Given the description of an element on the screen output the (x, y) to click on. 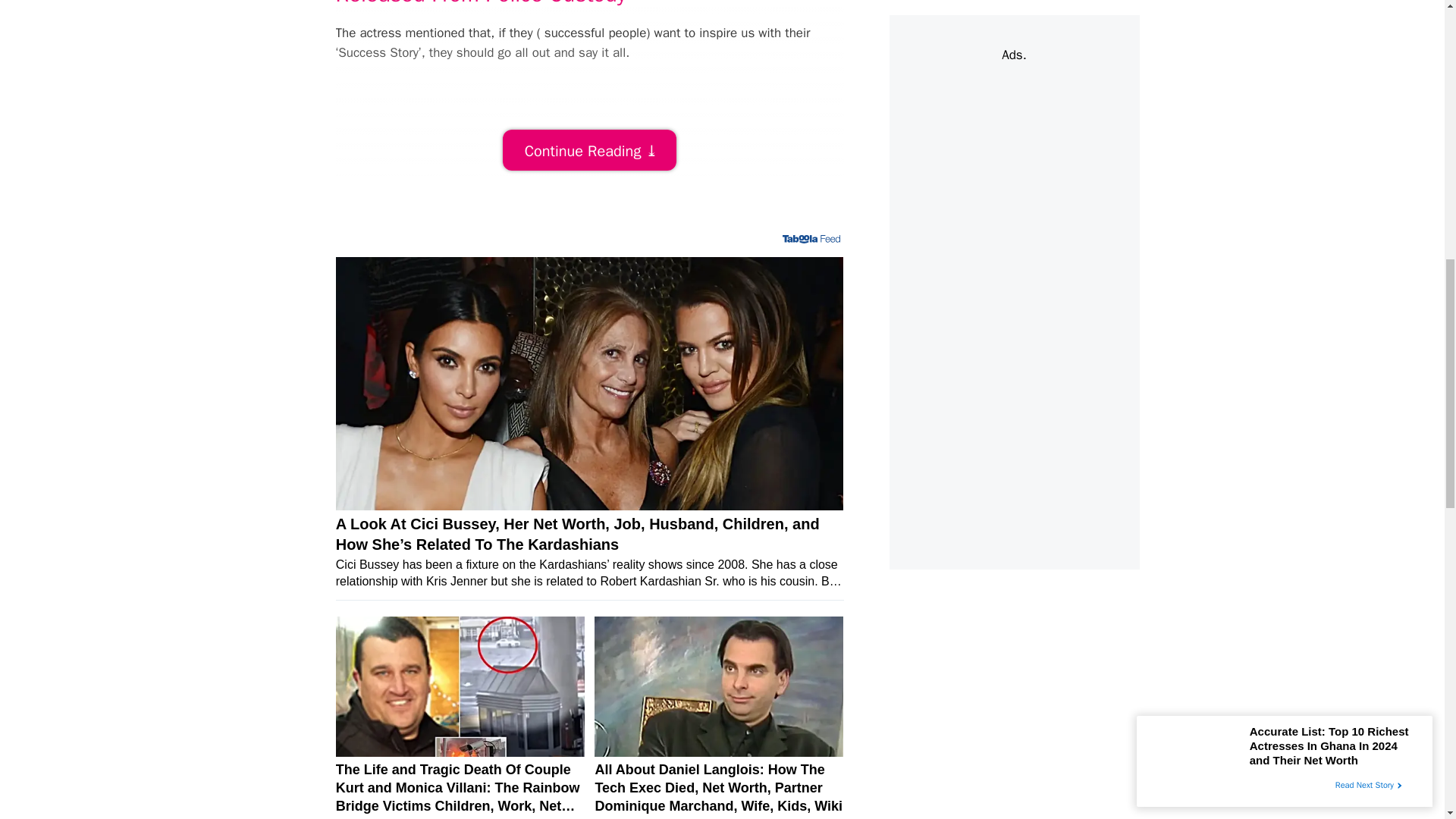
Read More (589, 149)
Advertisement (611, 187)
